Given the description of an element on the screen output the (x, y) to click on. 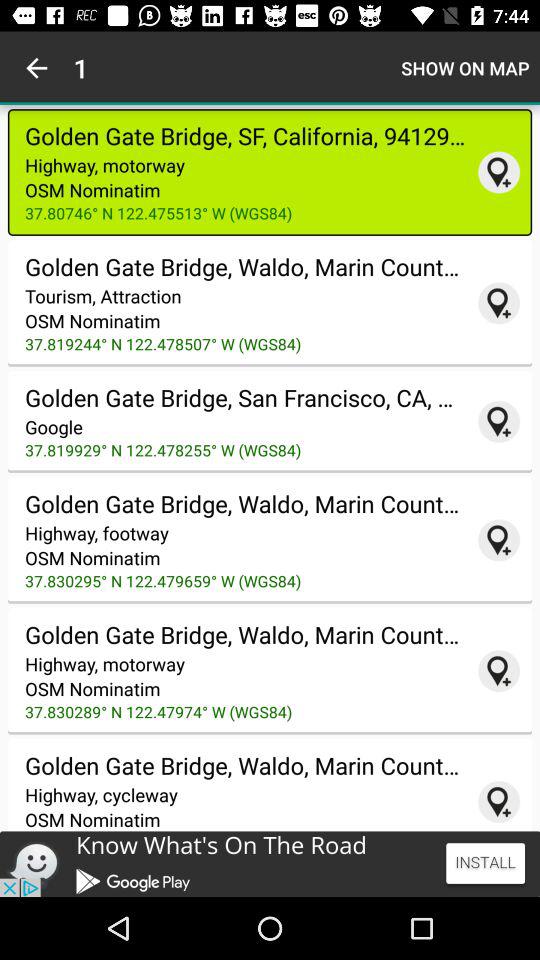
add golden gate bridge to map (499, 172)
